Given the description of an element on the screen output the (x, y) to click on. 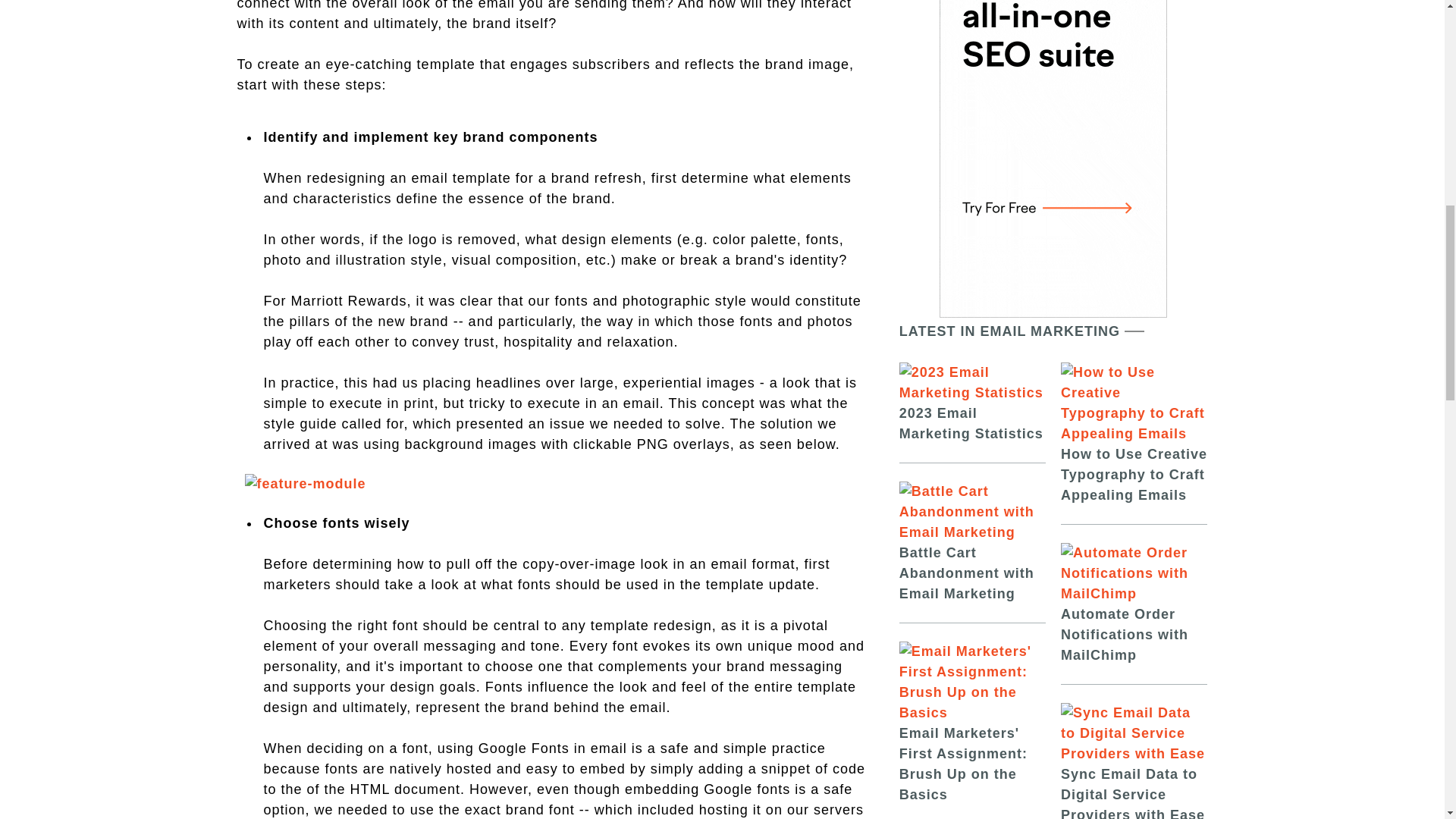
feature-module (304, 484)
